Given the description of an element on the screen output the (x, y) to click on. 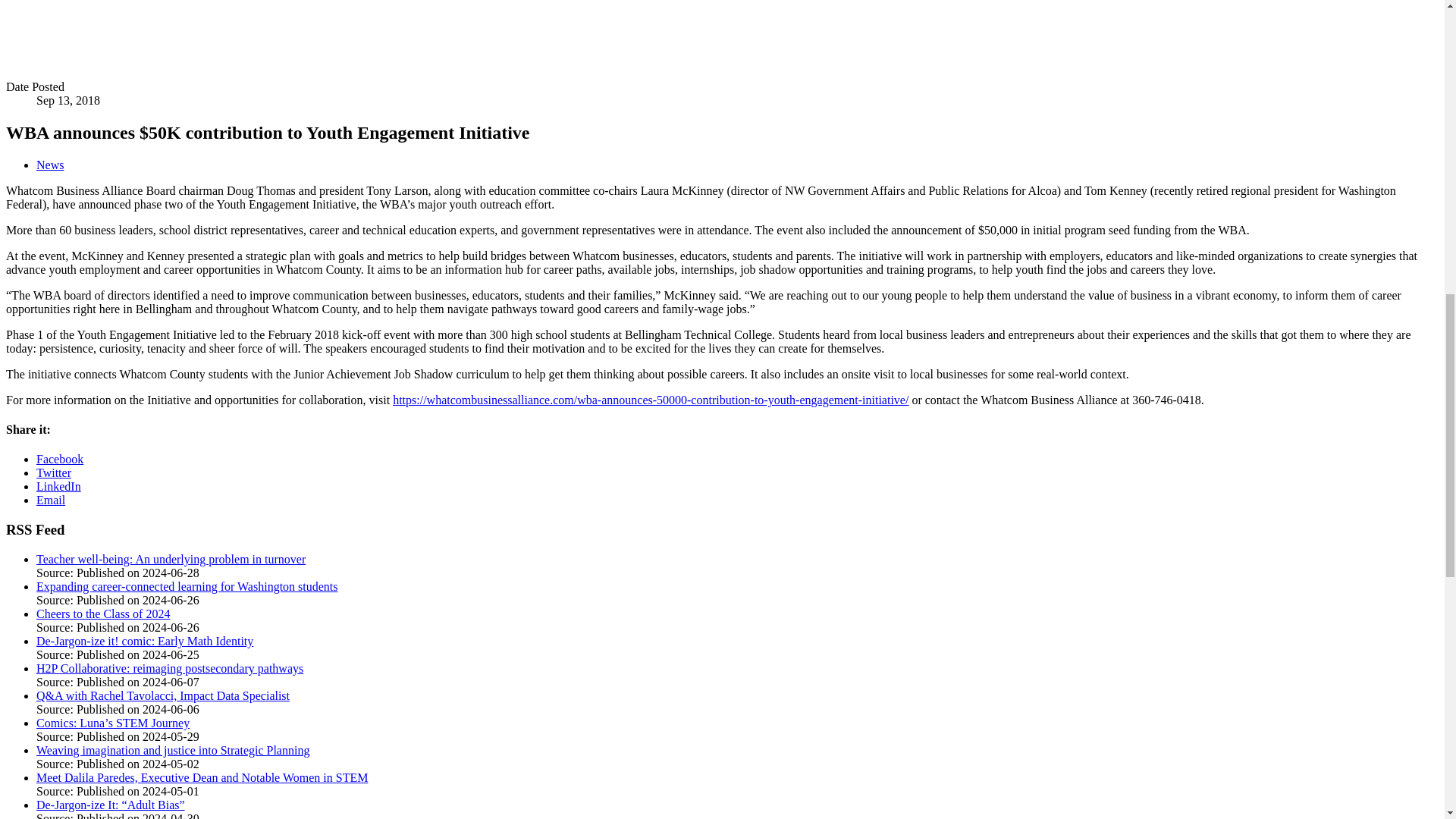
Cheers to the Class of 2024 (103, 613)
LinkedIn (58, 486)
Email (50, 499)
Expanding career-connected learning for Washington students (186, 585)
Weaving imagination and justice into Strategic Planning (172, 749)
Twitter (53, 472)
Facebook (59, 459)
H2P Collaborative: reimaging postsecondary pathways (169, 667)
News (50, 164)
De-Jargon-ize it! comic: Early Math Identity (144, 640)
Teacher well-being: An underlying problem in turnover (170, 558)
